Given the description of an element on the screen output the (x, y) to click on. 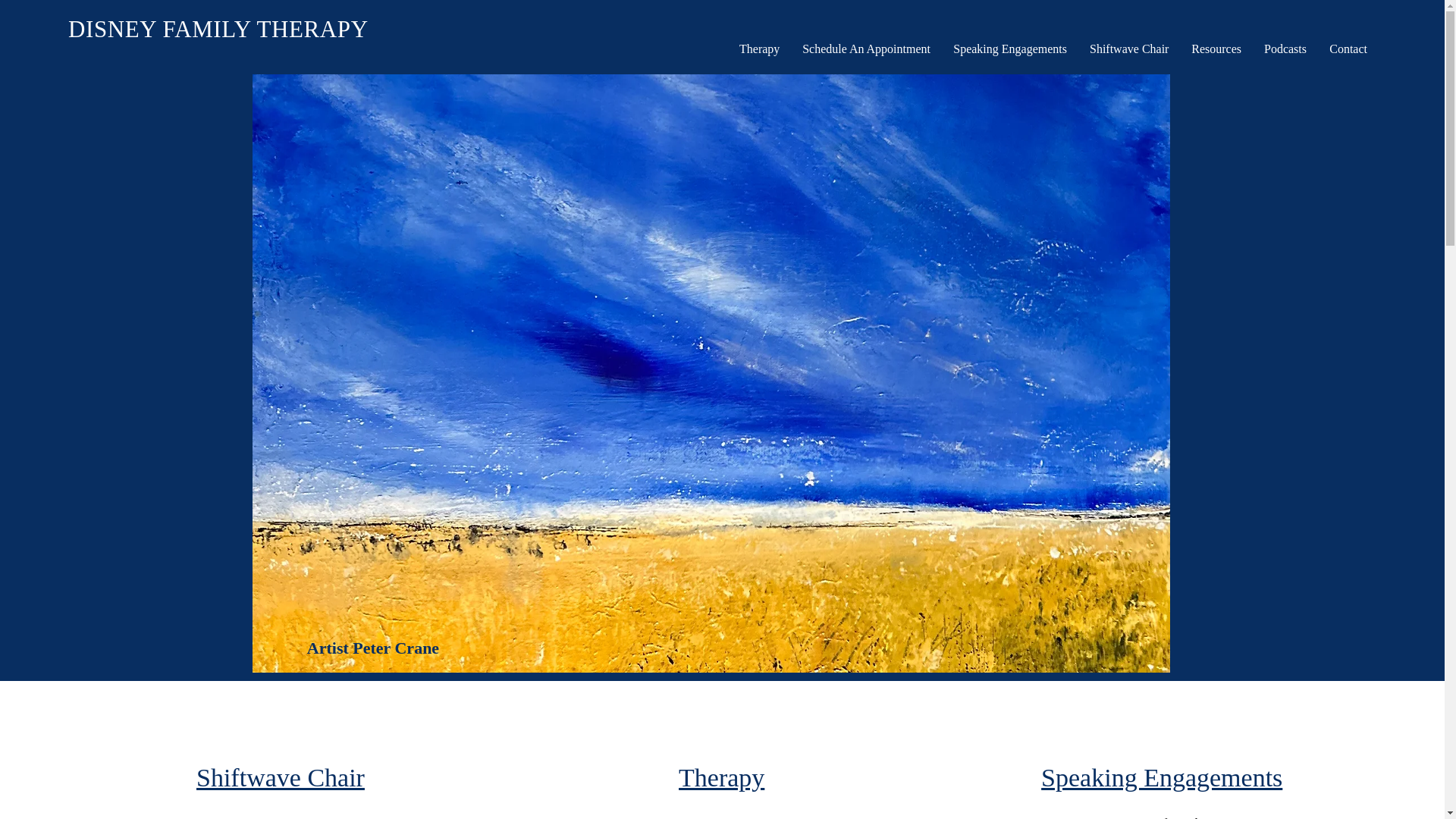
Resources (1215, 48)
DISNEY FAMILY THERAPY (218, 28)
Therapy (721, 777)
Artist Peter Crane (373, 647)
Shiftwave Chair (1128, 48)
Podcasts (1284, 48)
Shiftwave Chair (280, 776)
Speaking Engagements (1010, 48)
Contact (1347, 48)
Therapy (759, 48)
Speaking Engagements (1161, 776)
Schedule An Appointment (866, 48)
